Given the description of an element on the screen output the (x, y) to click on. 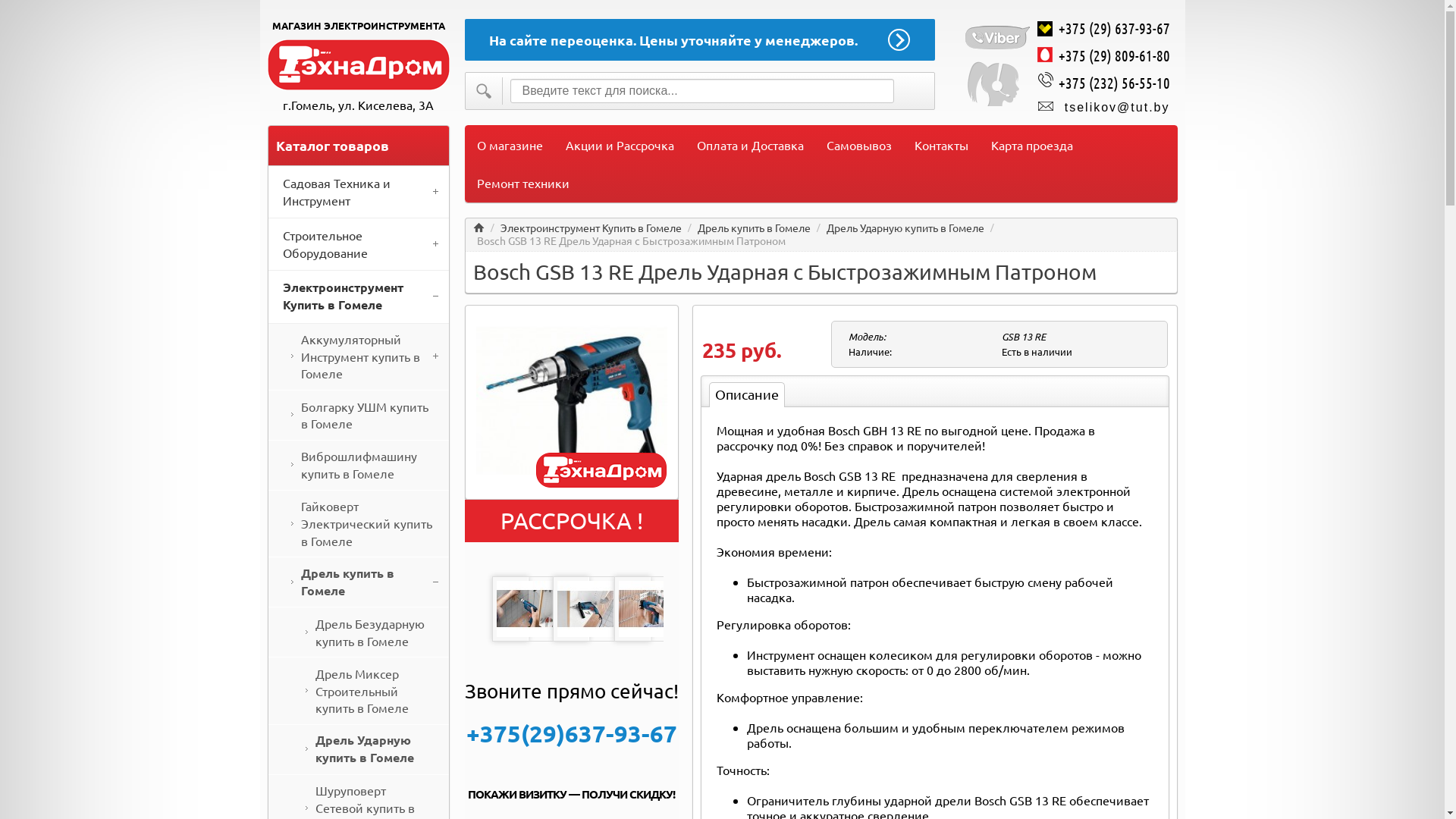
+375(29)637-93-67 Element type: text (570, 732)
tselikov@tut.by Element type: text (1117, 106)
